Given the description of an element on the screen output the (x, y) to click on. 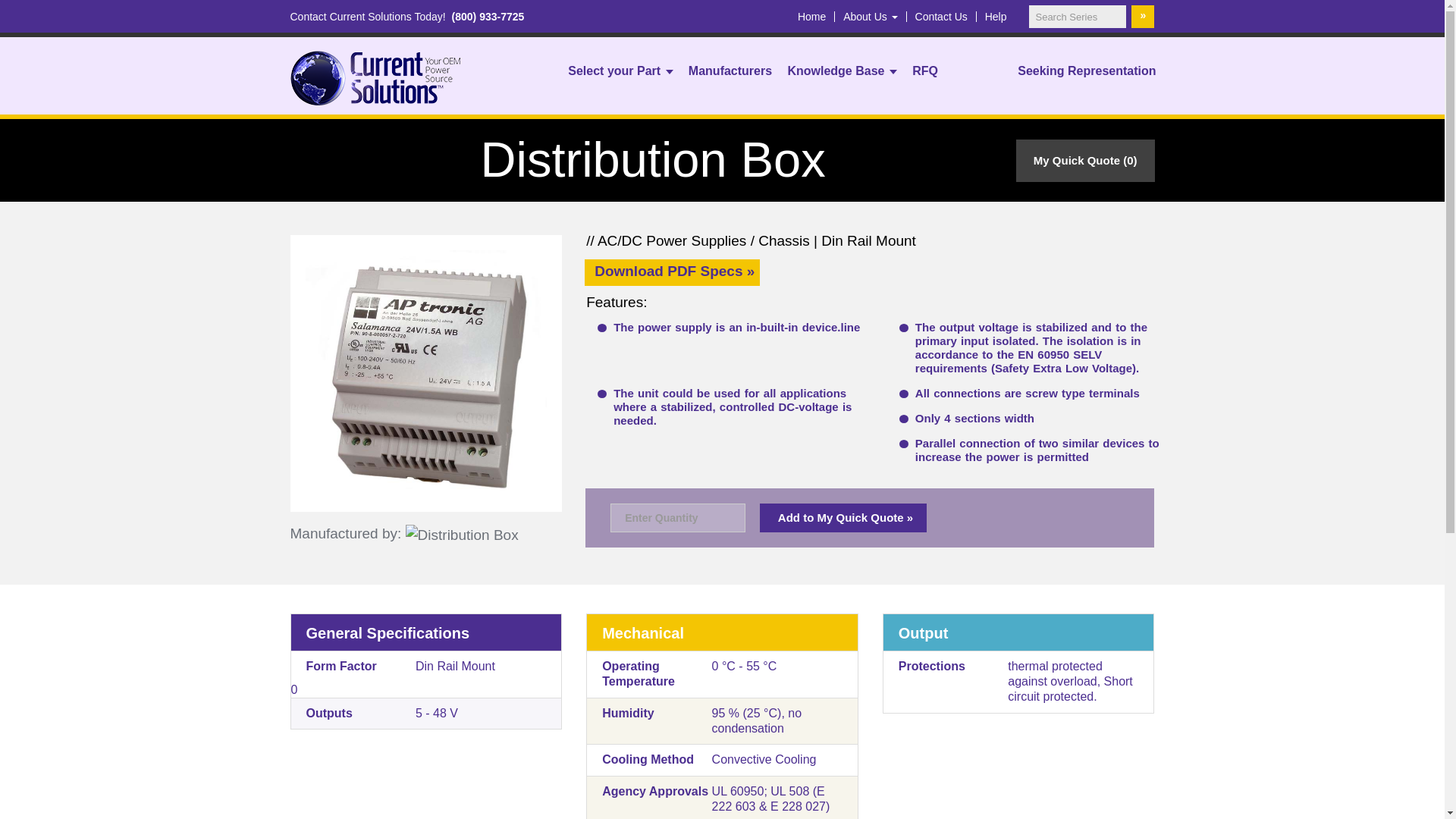
RFQ (924, 70)
Manufacturers (729, 70)
Knowledge Base (841, 70)
Select your Part (619, 70)
Knowledge Base (841, 70)
Contact Us (941, 16)
Seeking Representation (1086, 70)
RFQ (924, 70)
About Us (869, 16)
Seeking Representation (1086, 70)
Manufacturers (729, 70)
Home (811, 16)
Help (996, 16)
Select your Part (619, 70)
